Given the description of an element on the screen output the (x, y) to click on. 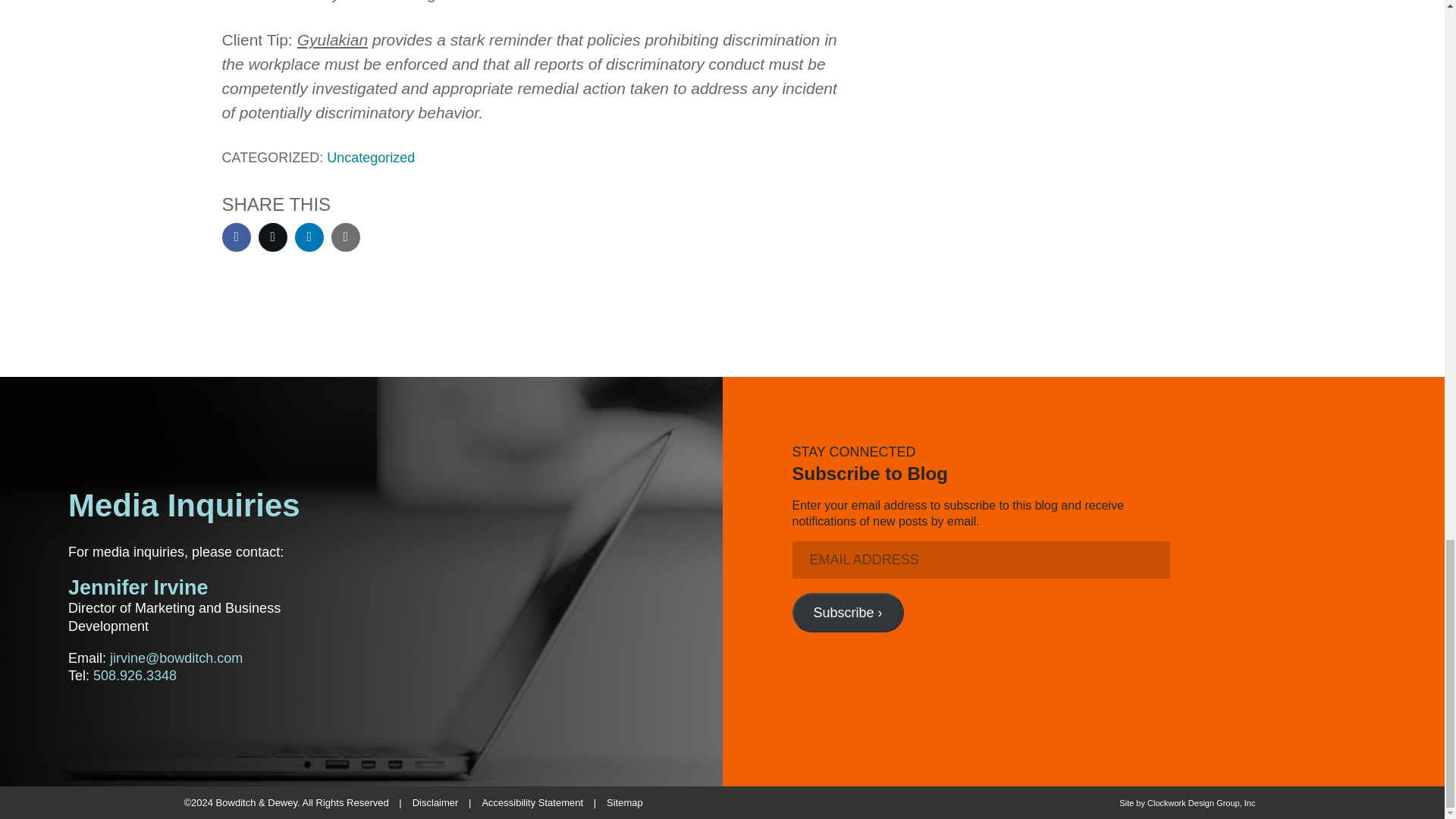
Sitemap (625, 802)
508.926.3348 (134, 675)
Disclaimer (435, 802)
Accessibility Statement (532, 802)
Uncategorized (370, 157)
Site by Clockwork Design Group, Inc (1187, 802)
